Given the description of an element on the screen output the (x, y) to click on. 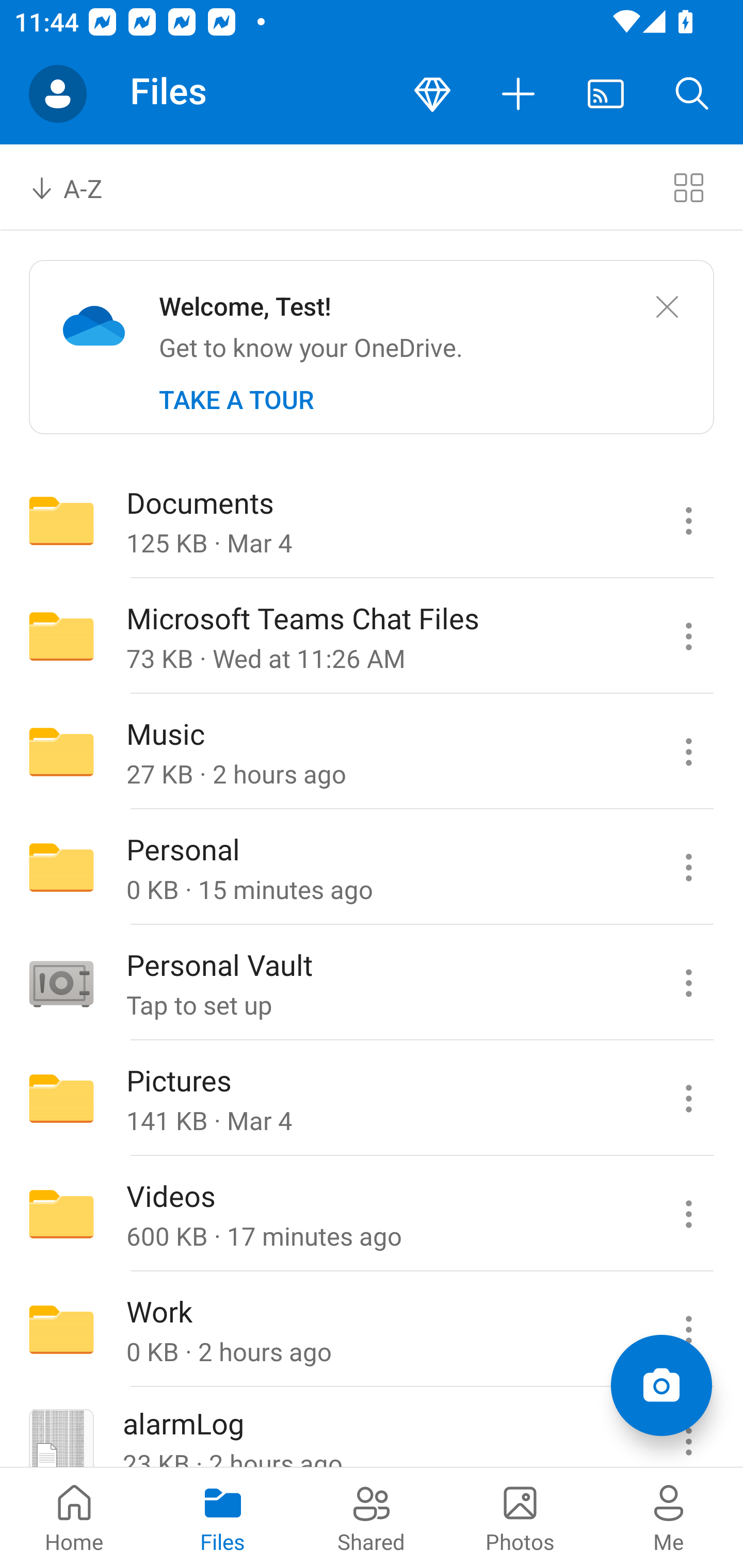
Account switcher (57, 93)
Cast. Disconnected (605, 93)
Premium button (432, 93)
More actions button (518, 93)
Search button (692, 93)
A-Z Sort by combo box, sort by name, A to Z (80, 187)
Switch to tiles view (688, 187)
Close (667, 307)
TAKE A TOUR (236, 399)
Folder Documents 125 KB · Mar 4 Documents commands (371, 520)
Documents commands (688, 520)
Microsoft Teams Chat Files commands (688, 636)
Folder Music 27 KB · 2 hours ago Music commands (371, 751)
Music commands (688, 751)
Personal commands (688, 867)
Personal Vault commands (688, 983)
Folder Pictures 141 KB · Mar 4 Pictures commands (371, 1099)
Pictures commands (688, 1099)
Videos commands (688, 1214)
Folder Work 0 KB · 2 hours ago Work commands (371, 1329)
Work commands (688, 1329)
Add items Scan (660, 1385)
alarmLog commands (688, 1427)
Home pivot Home (74, 1517)
Shared pivot Shared (371, 1517)
Photos pivot Photos (519, 1517)
Me pivot Me (668, 1517)
